Given the description of an element on the screen output the (x, y) to click on. 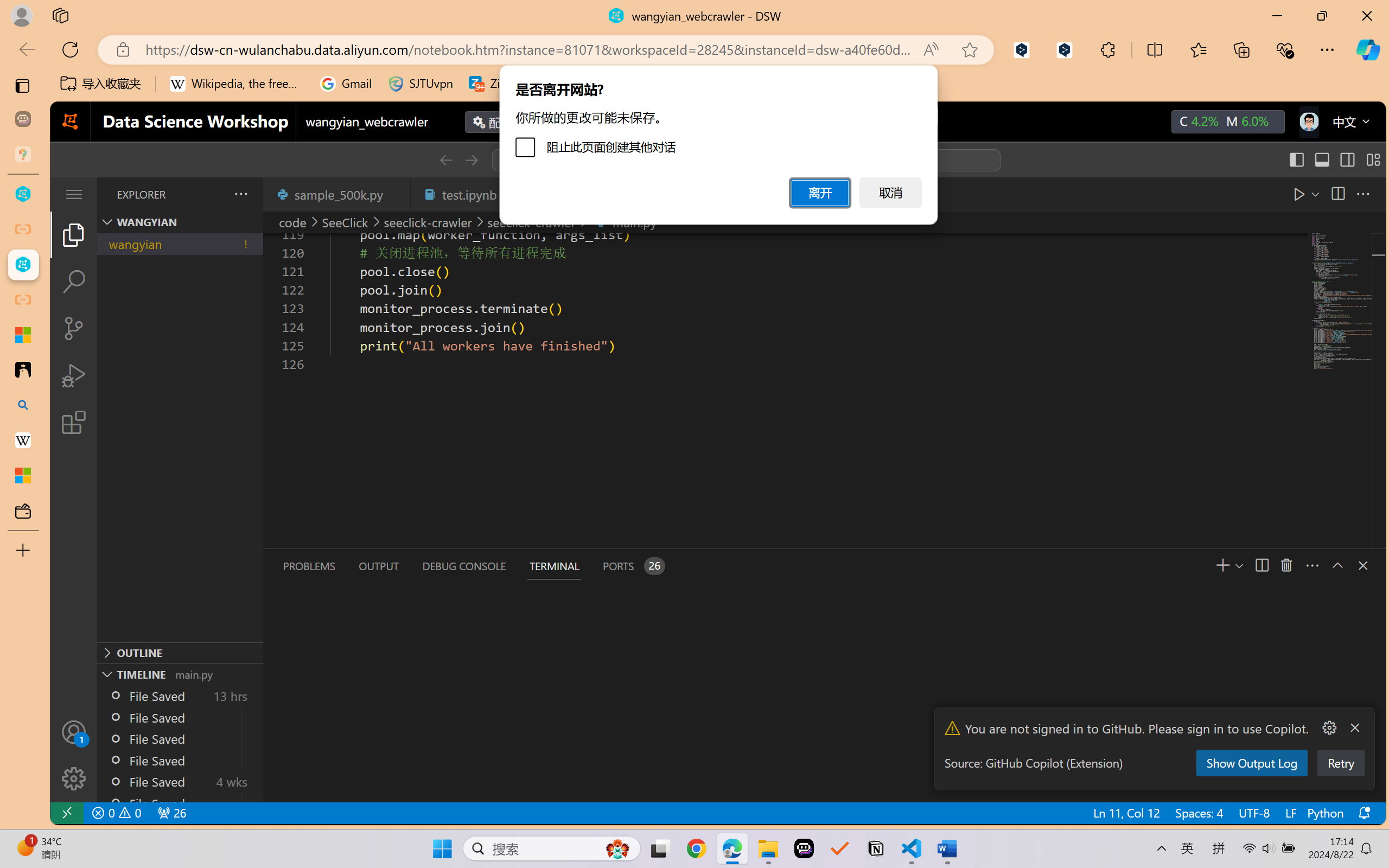
Close (Ctrl+F4) (396, 194)
Show Output Log (1251, 762)
Open Changes (1311, 193)
Ln 11, Col 12 (1125, 812)
Earth - Wikipedia (22, 440)
Close Panel (1362, 565)
sample_500k.py (336, 194)
Run and Debug (Ctrl+Shift+D) (73, 375)
Application Menu (73, 194)
Class: menubar compact overflow-menu-only (73, 194)
